Given the description of an element on the screen output the (x, y) to click on. 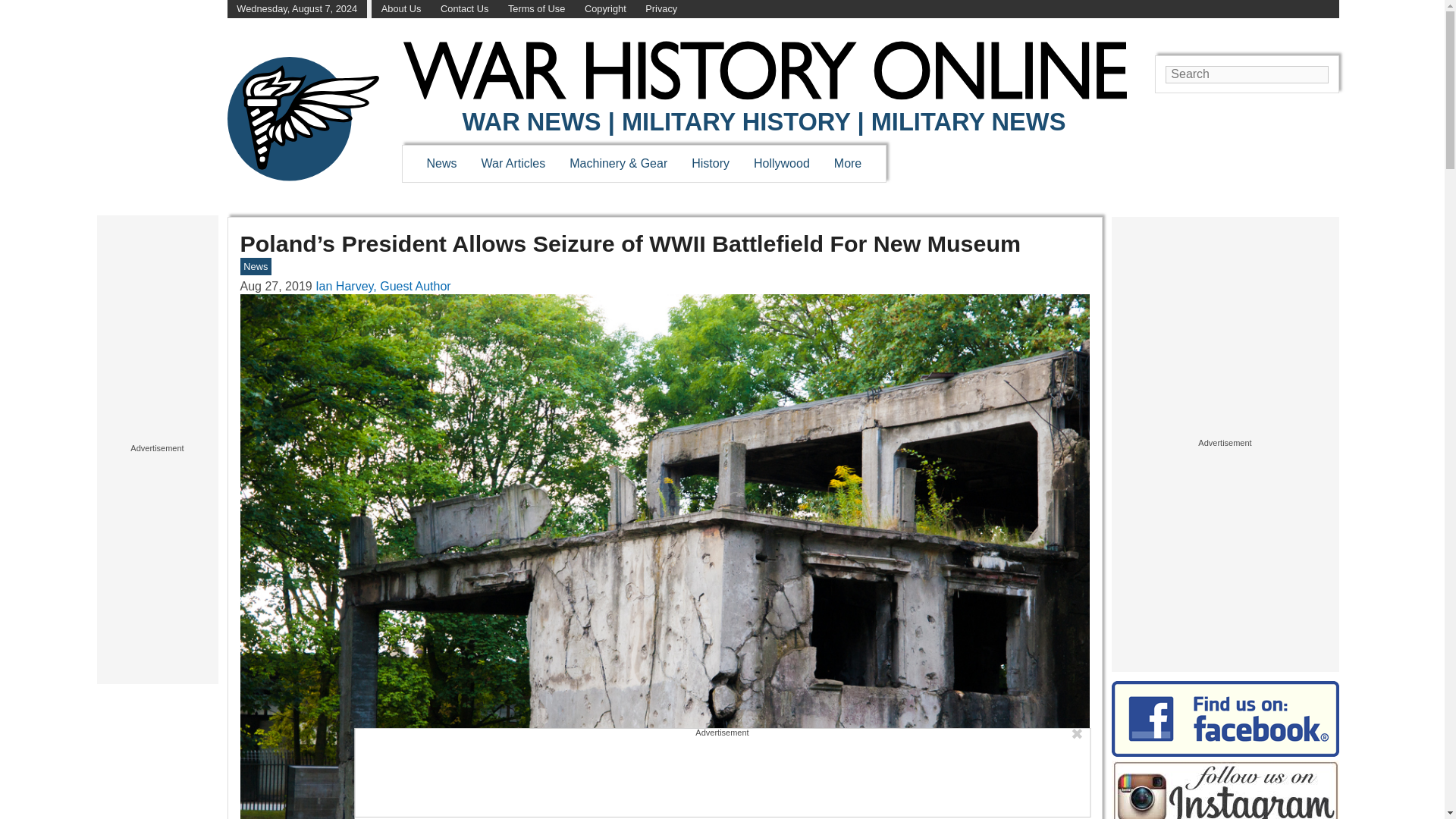
Contact Us (464, 8)
Privacy (661, 8)
Terms of Use (536, 8)
Hollywood (781, 163)
News (441, 163)
History (710, 163)
More (847, 163)
Copyright (605, 8)
